Given the description of an element on the screen output the (x, y) to click on. 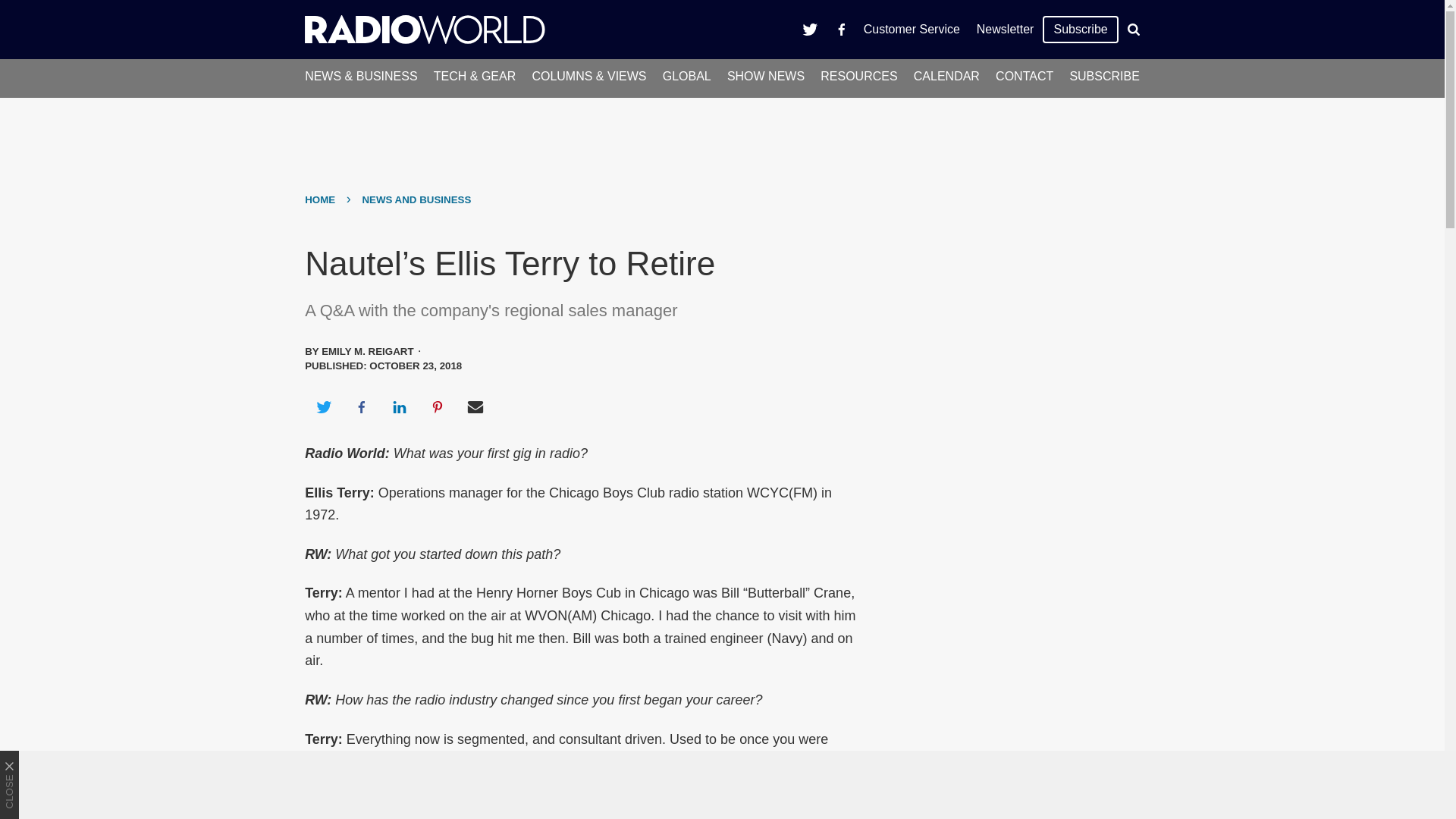
Share on Twitter (323, 406)
Share on LinkedIn (399, 406)
Share on Facebook (361, 406)
Share via Email (476, 406)
Share on Pinterest (438, 406)
Customer Service (912, 29)
